Given the description of an element on the screen output the (x, y) to click on. 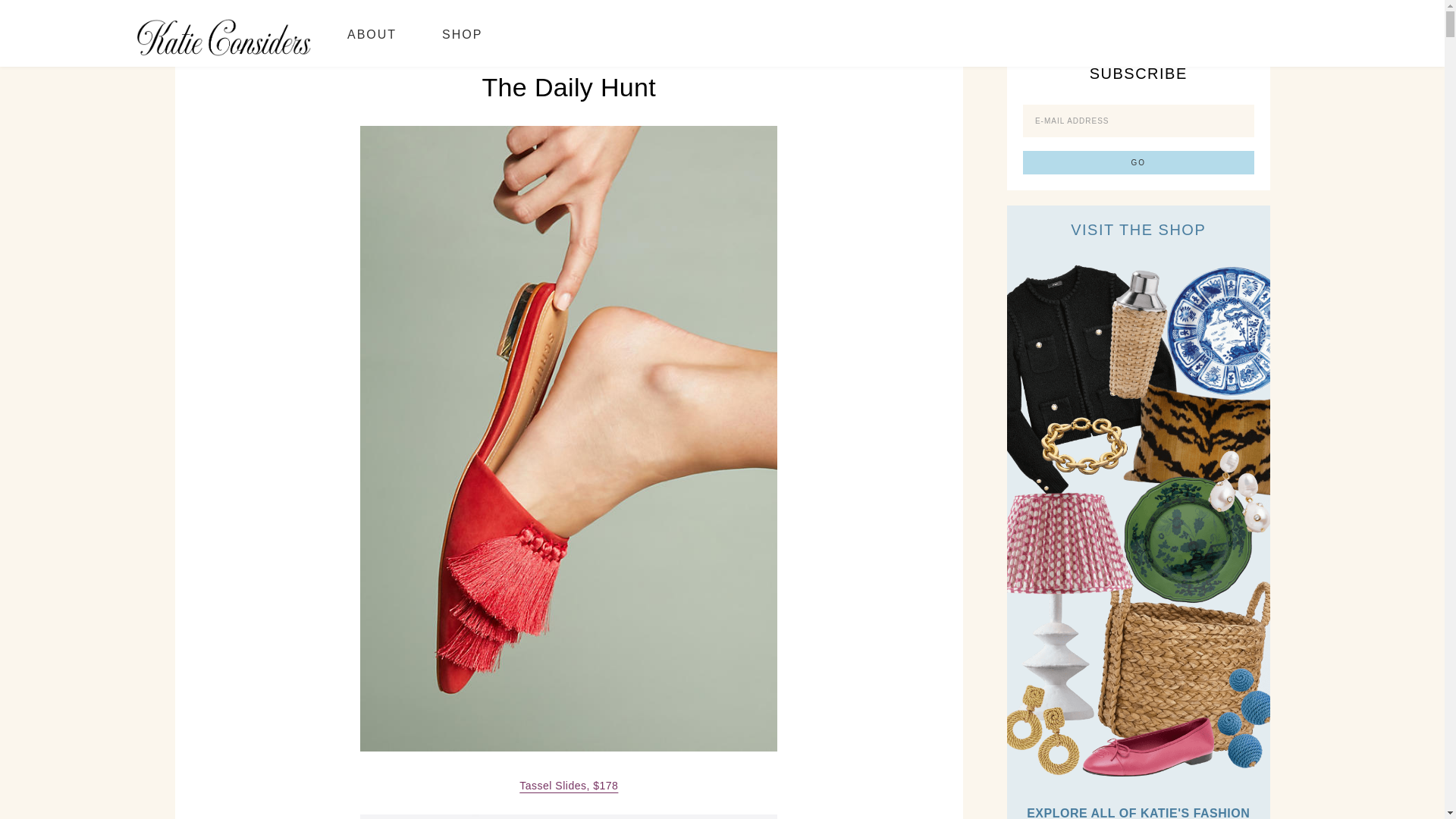
ABOUT (371, 33)
Go (1138, 162)
SHOP (462, 33)
